Given the description of an element on the screen output the (x, y) to click on. 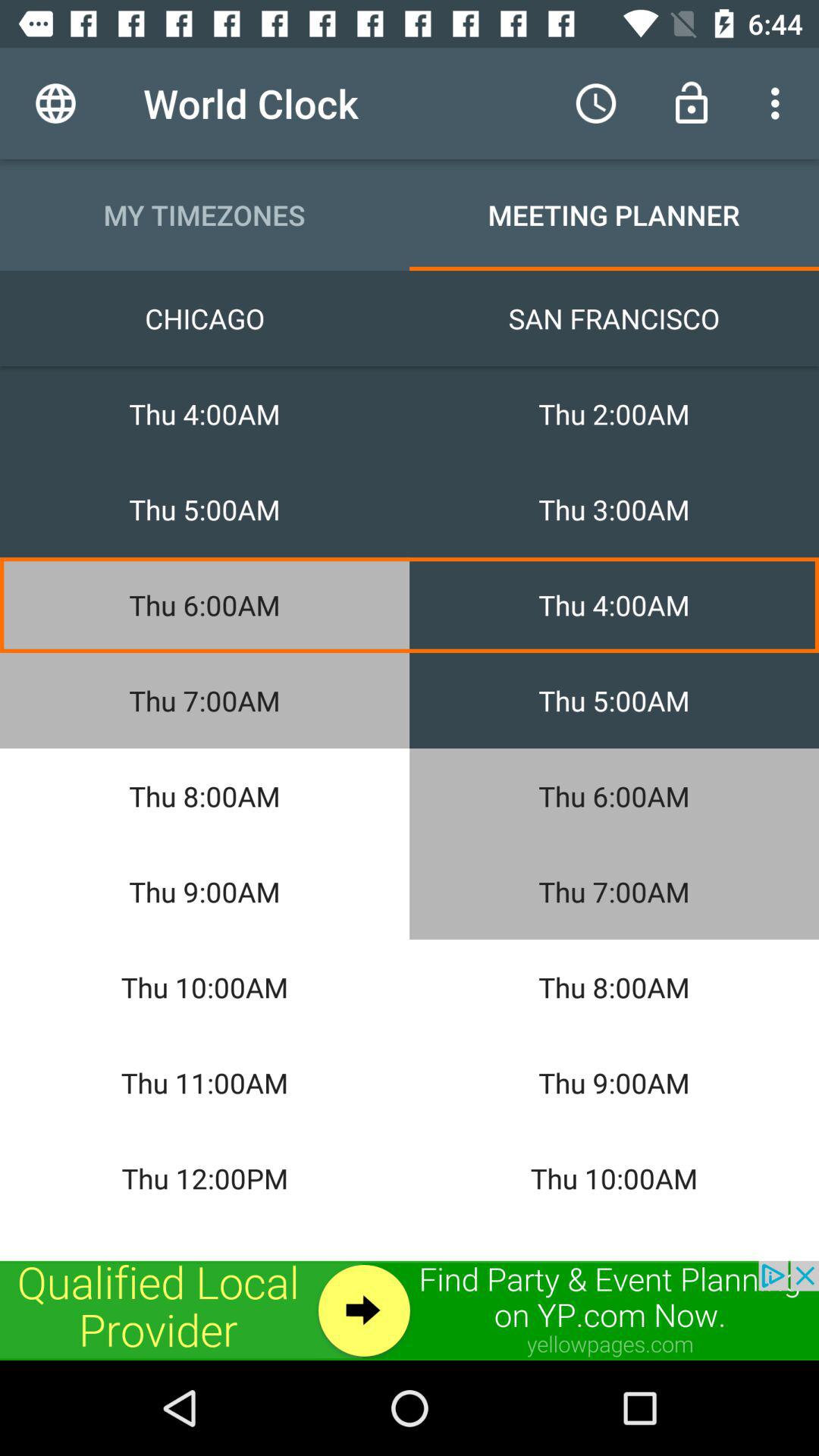
click advertisement (409, 1310)
